Given the description of an element on the screen output the (x, y) to click on. 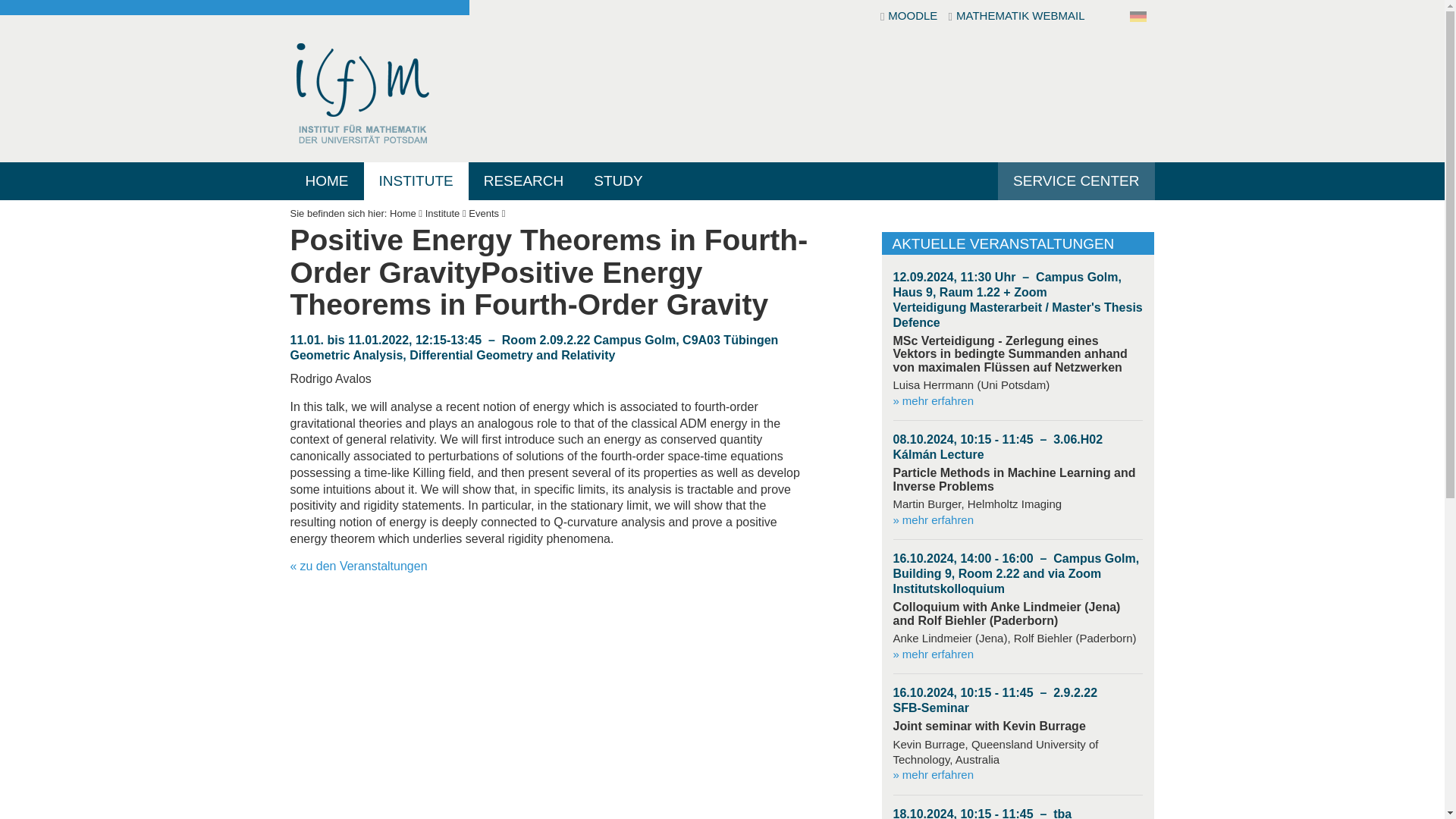
INSTITUTE (416, 180)
MOODLE (910, 18)
RESEARCH (523, 180)
MATHEMATIK WEBMAIL (1016, 18)
HOME (325, 180)
